Given the description of an element on the screen output the (x, y) to click on. 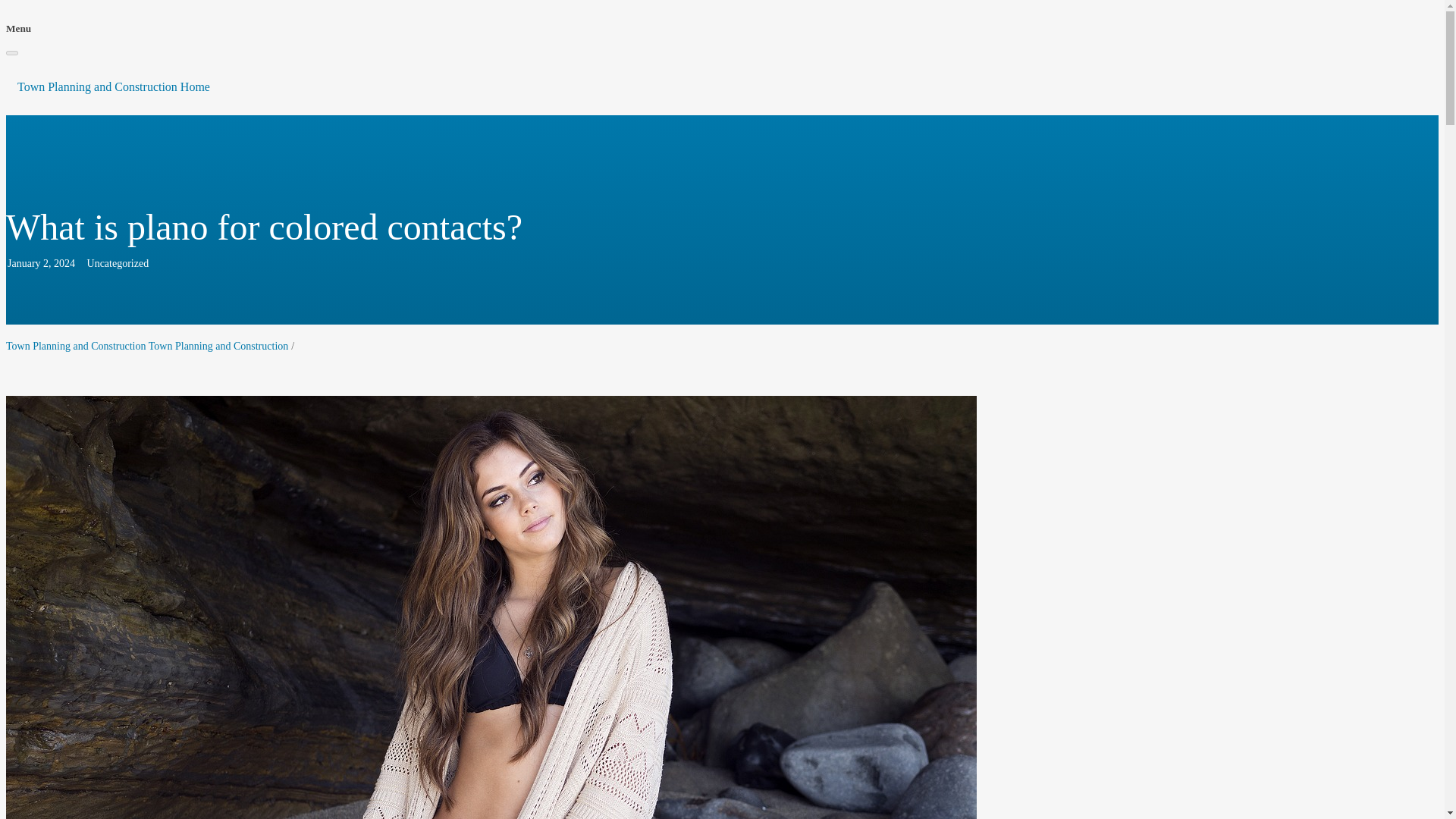
January (23, 263)
2024 (64, 263)
